Given the description of an element on the screen output the (x, y) to click on. 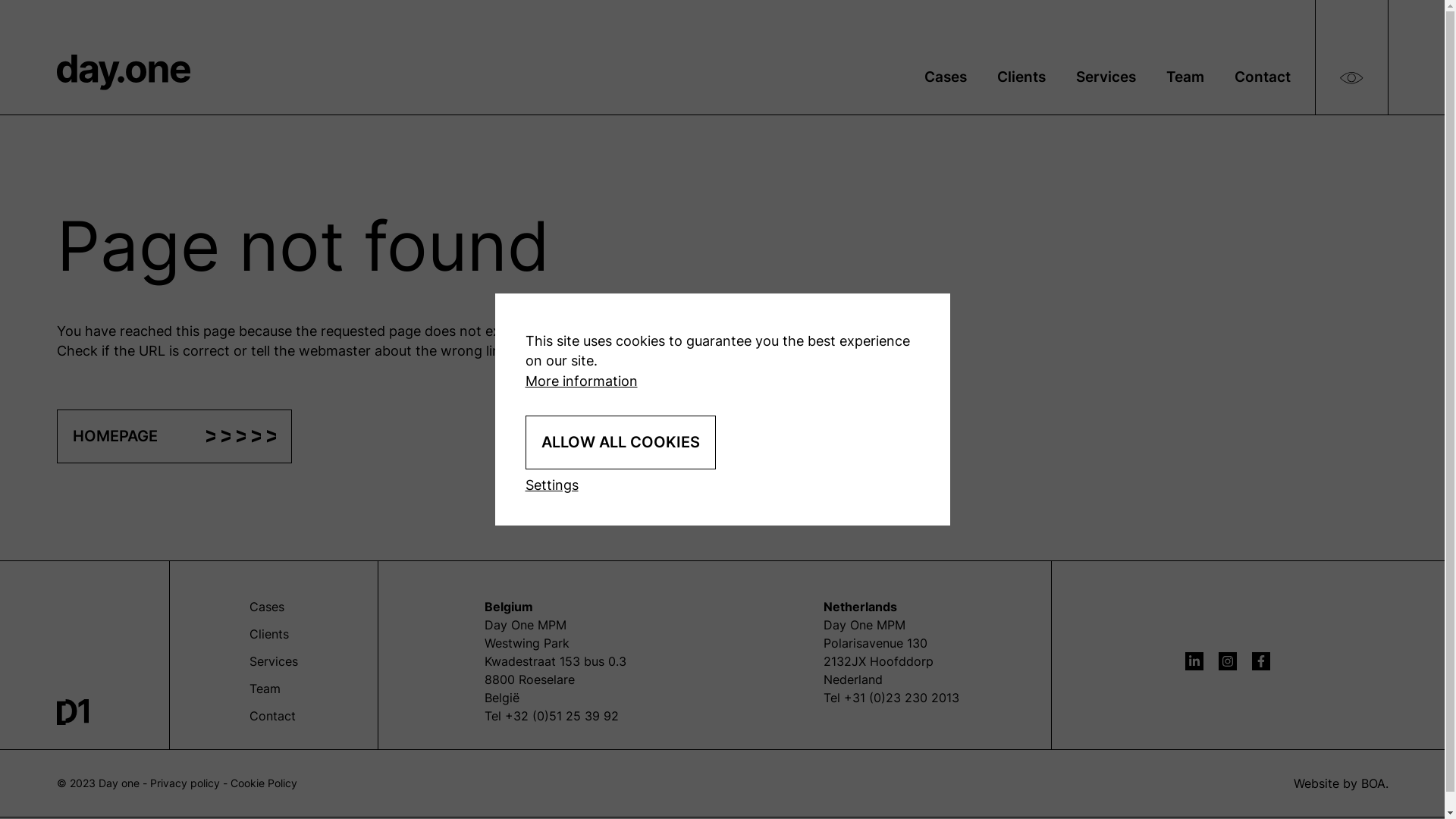
Services Element type: text (272, 660)
Clients Element type: text (268, 633)
More information Element type: text (580, 381)
BOA. Element type: text (1373, 782)
Team Element type: text (1185, 76)
Services Element type: text (1105, 76)
HOMEPAGE Element type: text (173, 436)
Contact Element type: text (1262, 76)
Contact Element type: text (271, 715)
ALLOW ALL COOKIES Element type: text (619, 442)
Cookie Policy Element type: text (263, 783)
Cases Element type: text (945, 76)
Privacy policy Element type: text (184, 783)
Settings Element type: text (550, 484)
Team Element type: text (263, 688)
+32 (0)51 25 39 92 Element type: text (561, 715)
Clients Element type: text (1021, 76)
Cases Element type: text (265, 606)
+31 (0)23 230 2013 Element type: text (901, 697)
